Given the description of an element on the screen output the (x, y) to click on. 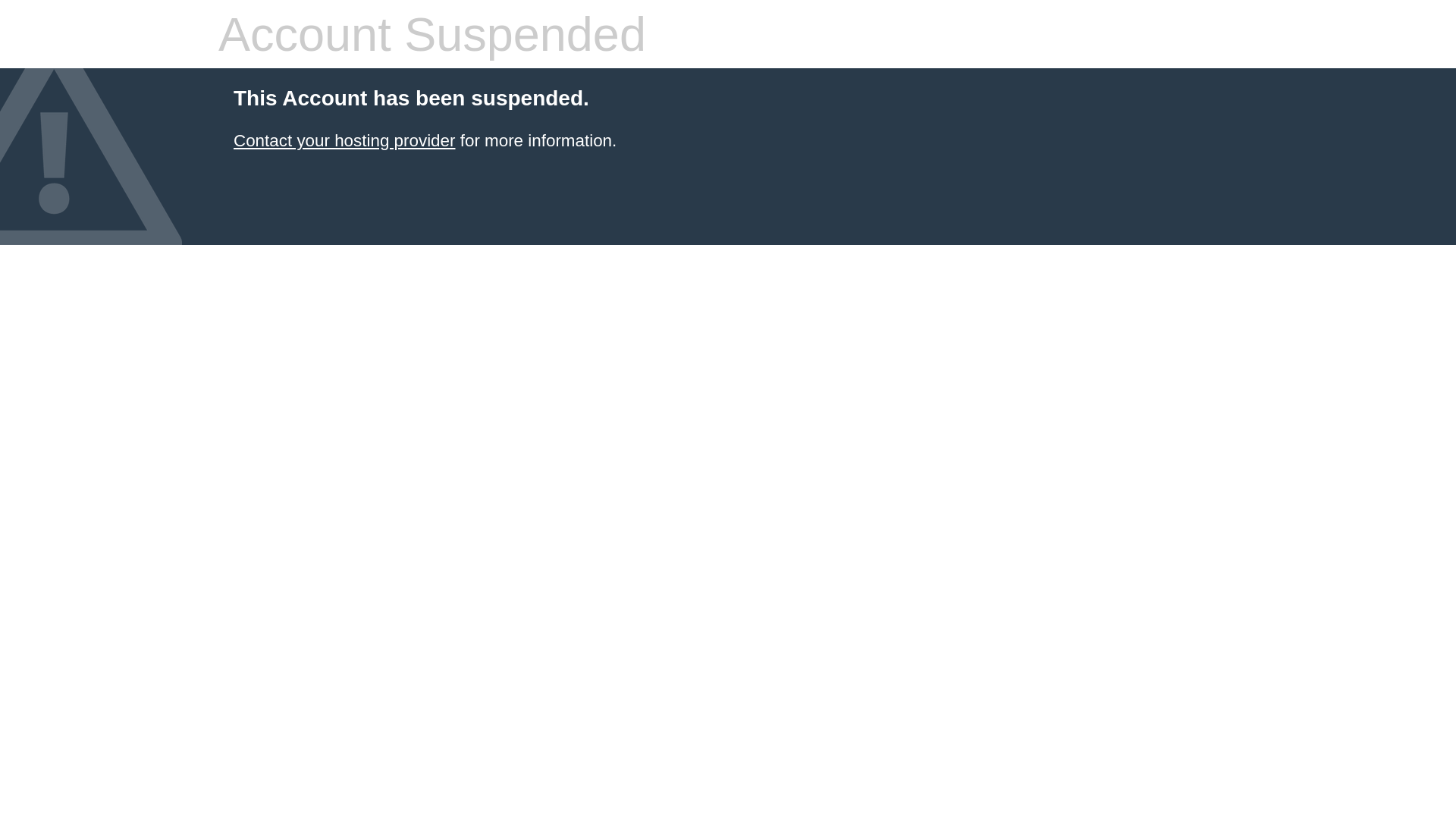
Contact your hosting provider Element type: text (344, 140)
